Given the description of an element on the screen output the (x, y) to click on. 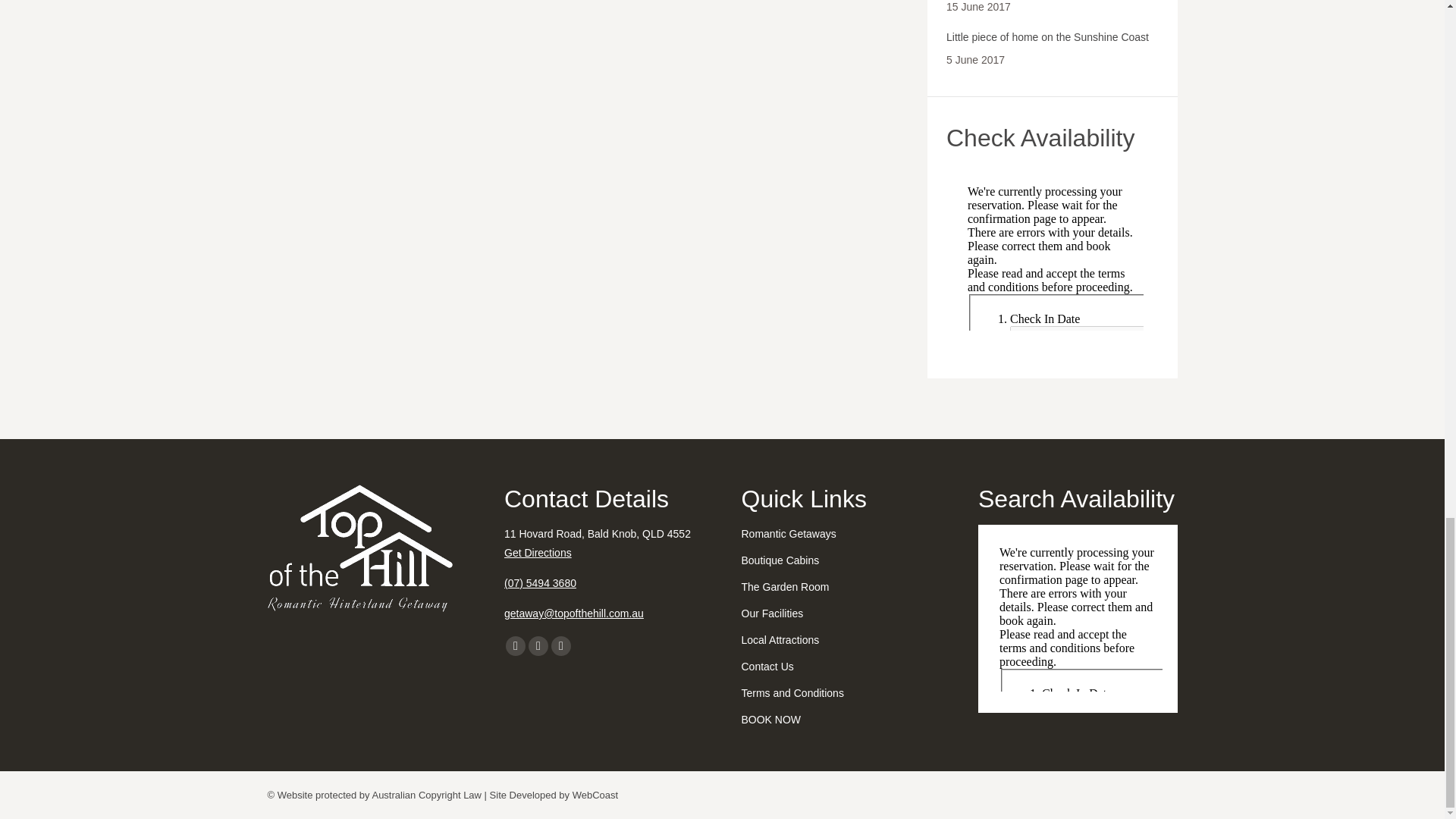
Facebook page opens in new window (515, 646)
Instagram page opens in new window (538, 646)
TripAdvisor page opens in new window (560, 646)
